Given the description of an element on the screen output the (x, y) to click on. 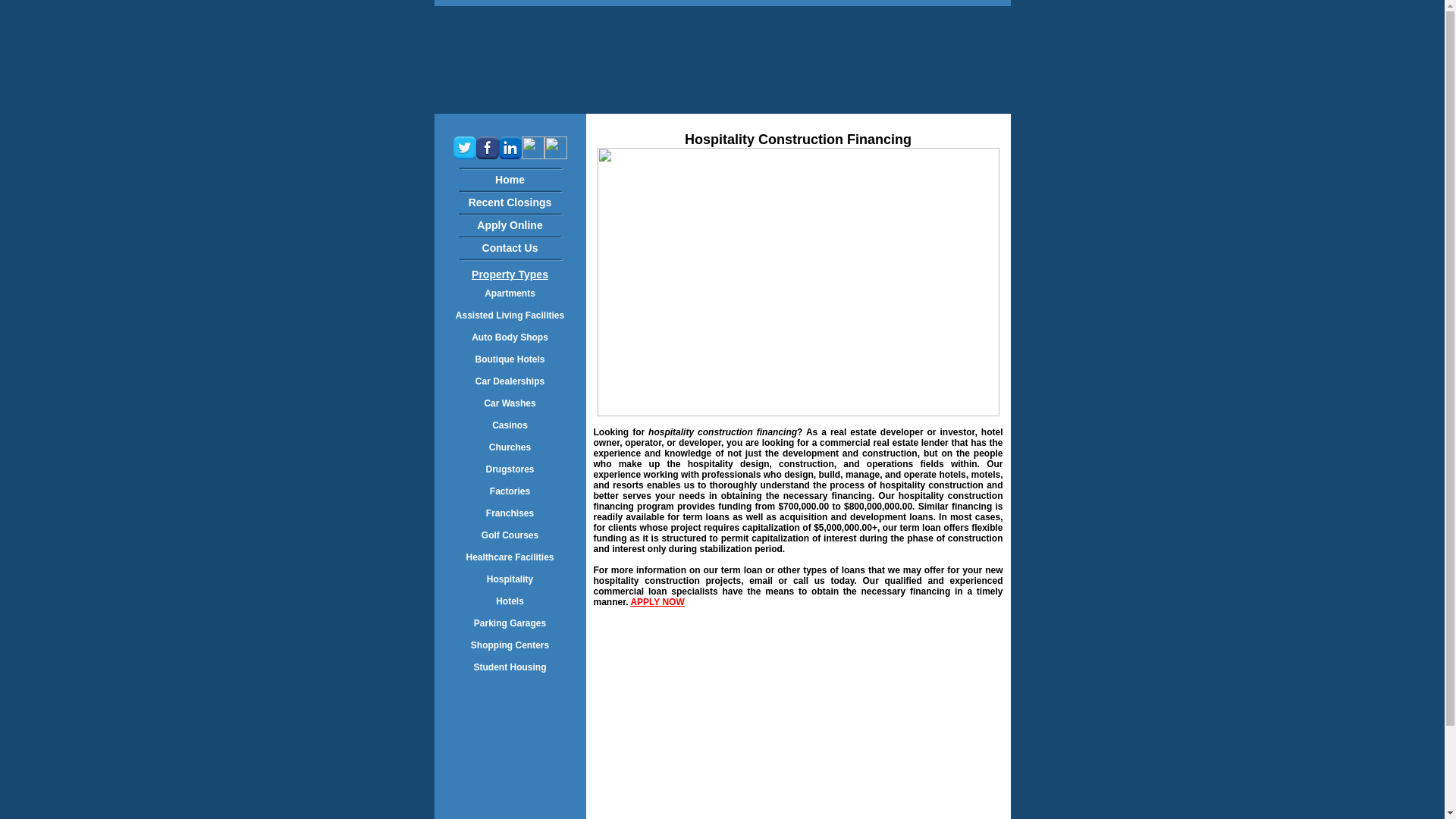
Franchises (510, 512)
Shopping Centers (509, 644)
Drugstores (509, 469)
Car Dealerships (510, 380)
Auto Body Shops (509, 337)
Boutique Hotels (509, 358)
Home (509, 179)
Apartments (509, 293)
Healthcare Facilities (509, 557)
Contact Us (509, 247)
Student Housing (509, 666)
Casinos (509, 425)
Assisted Living Facilities (509, 315)
Parking Garages (510, 623)
APPLY NOW (657, 602)
